Given the description of an element on the screen output the (x, y) to click on. 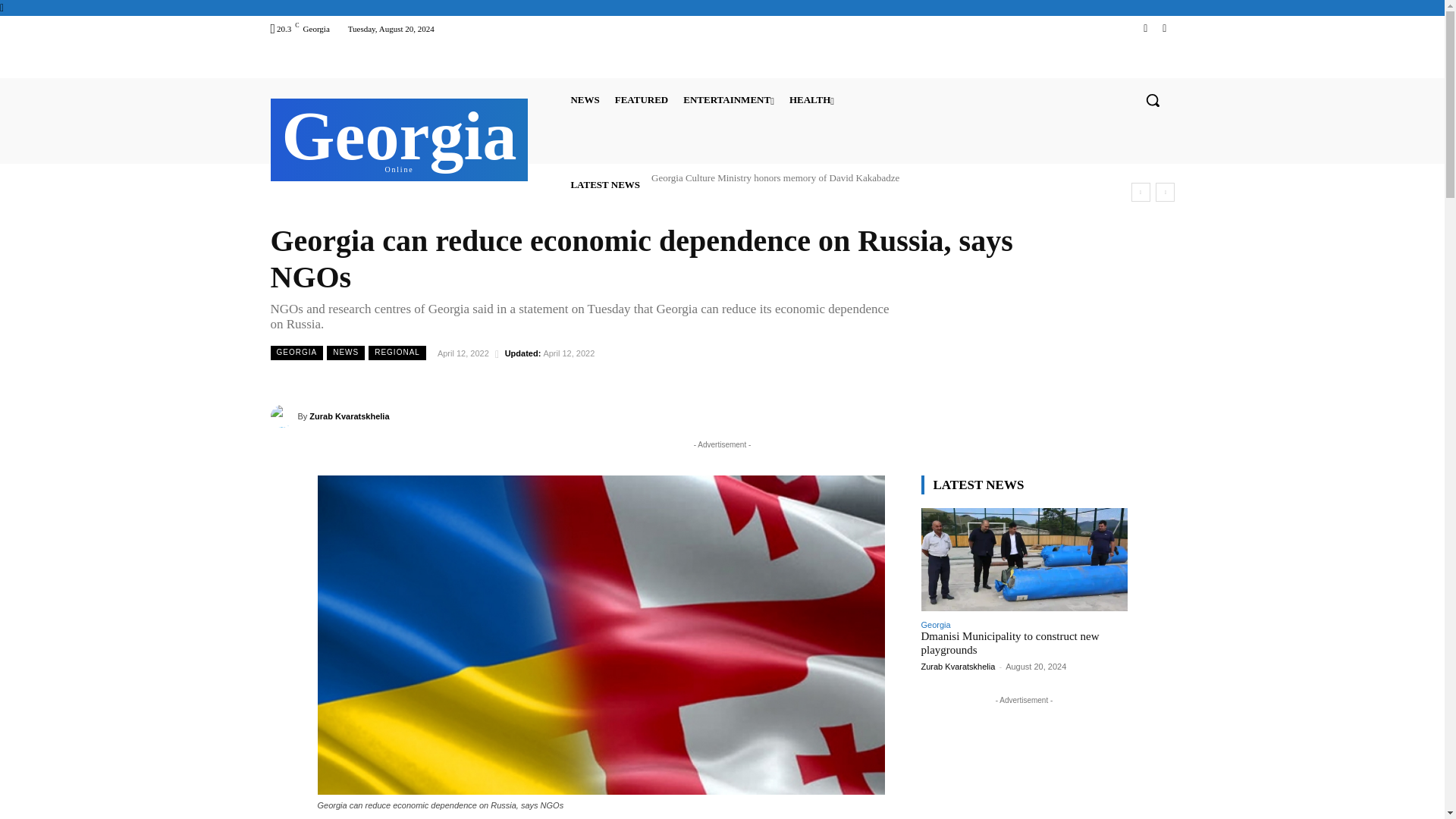
Georgia Culture Ministry honors memory of David Kakabadze (774, 177)
Facebook (1144, 27)
FEATURED (641, 99)
Twitter (1163, 27)
NEWS (584, 99)
HEALTH (811, 99)
ENTERTAINMENT (728, 99)
